Given the description of an element on the screen output the (x, y) to click on. 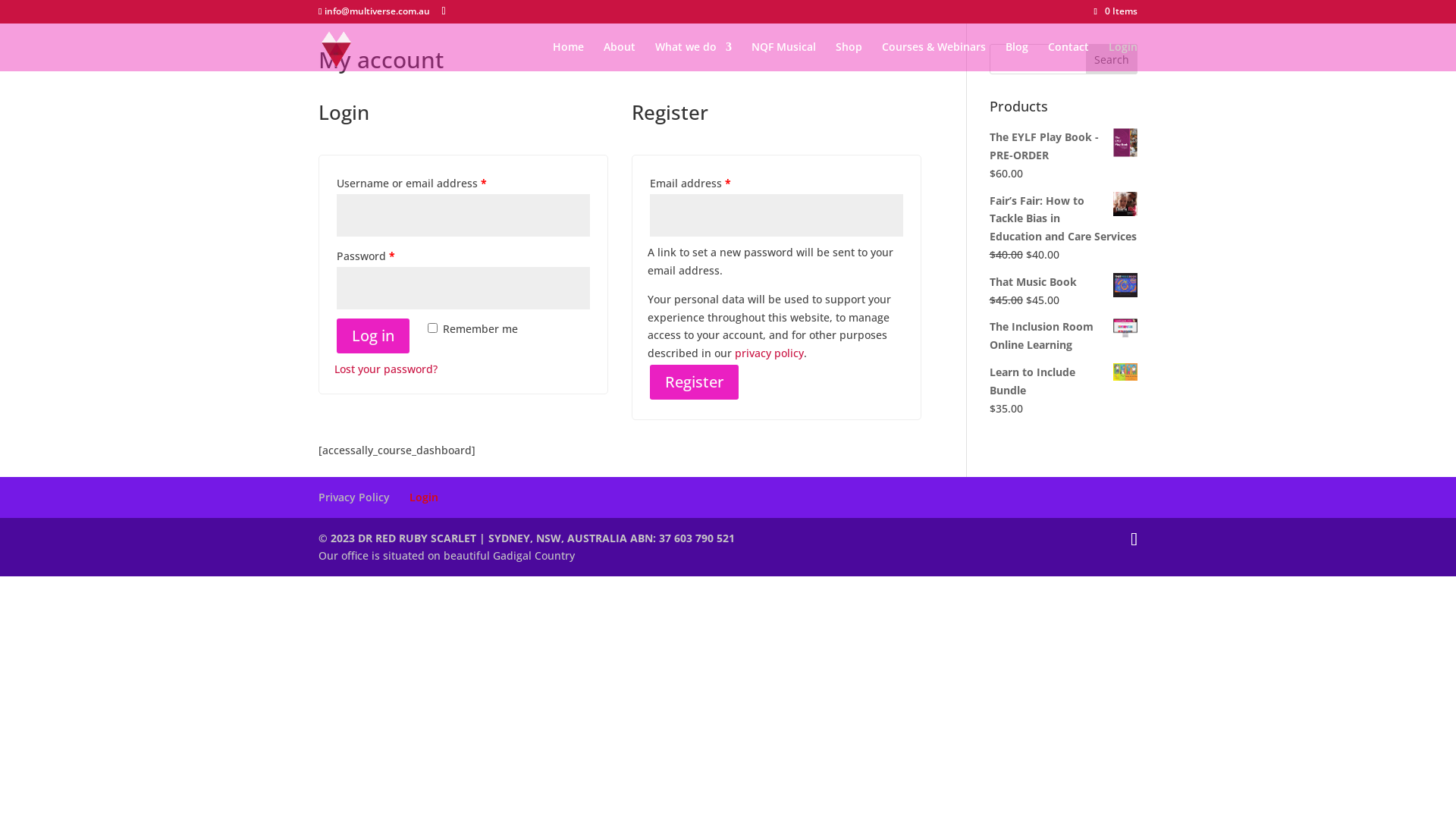
Privacy Policy Element type: text (353, 496)
Blog Element type: text (1016, 56)
Login Element type: text (423, 496)
That Music Book Element type: text (1063, 282)
Log in Element type: text (372, 335)
What we do Element type: text (693, 56)
0 Items Element type: text (1115, 10)
Courses & Webinars Element type: text (933, 56)
Lost your password? Element type: text (385, 368)
The Inclusion Room Online Learning Element type: text (1063, 335)
Login Element type: text (1122, 56)
info@multiverse.com.au Element type: text (373, 10)
Learn to Include Bundle Element type: text (1063, 381)
Contact Element type: text (1068, 56)
Home Element type: text (567, 56)
The EYLF Play Book - PRE-ORDER Element type: text (1063, 146)
NQF Musical Element type: text (783, 56)
Shop Element type: text (848, 56)
Register Element type: text (693, 381)
About Element type: text (619, 56)
Search Element type: text (1111, 58)
privacy policy Element type: text (768, 352)
